Given the description of an element on the screen output the (x, y) to click on. 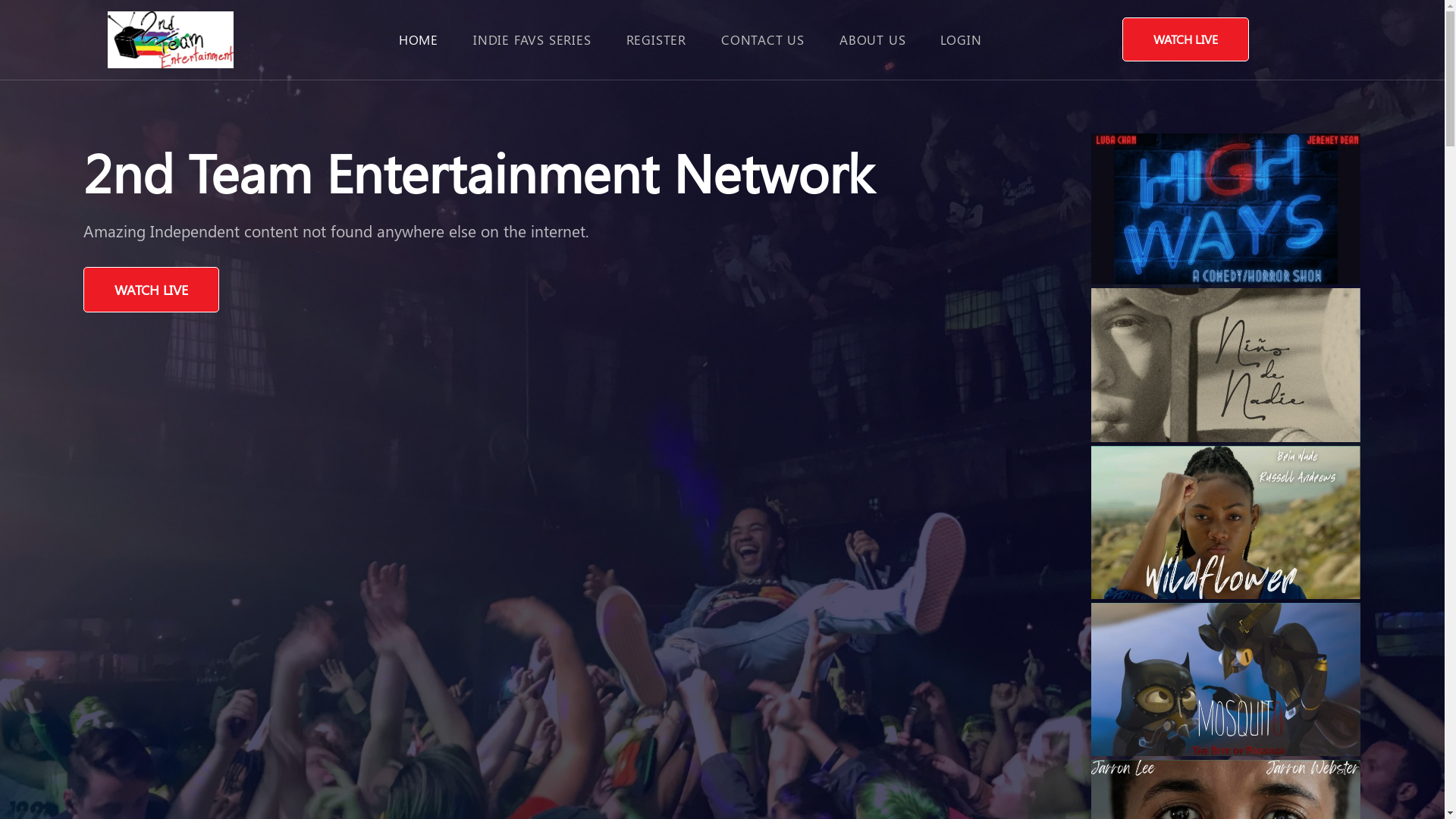
HOME Element type: text (418, 39)
WATCH LIVE Element type: text (1185, 39)
CONTACT US Element type: text (762, 39)
INDIE FAVS SERIES Element type: text (531, 39)
ABOUT US Element type: text (872, 39)
WATCH LIVE Element type: text (151, 289)
REGISTER Element type: text (656, 39)
LOGIN Element type: text (960, 39)
